Given the description of an element on the screen output the (x, y) to click on. 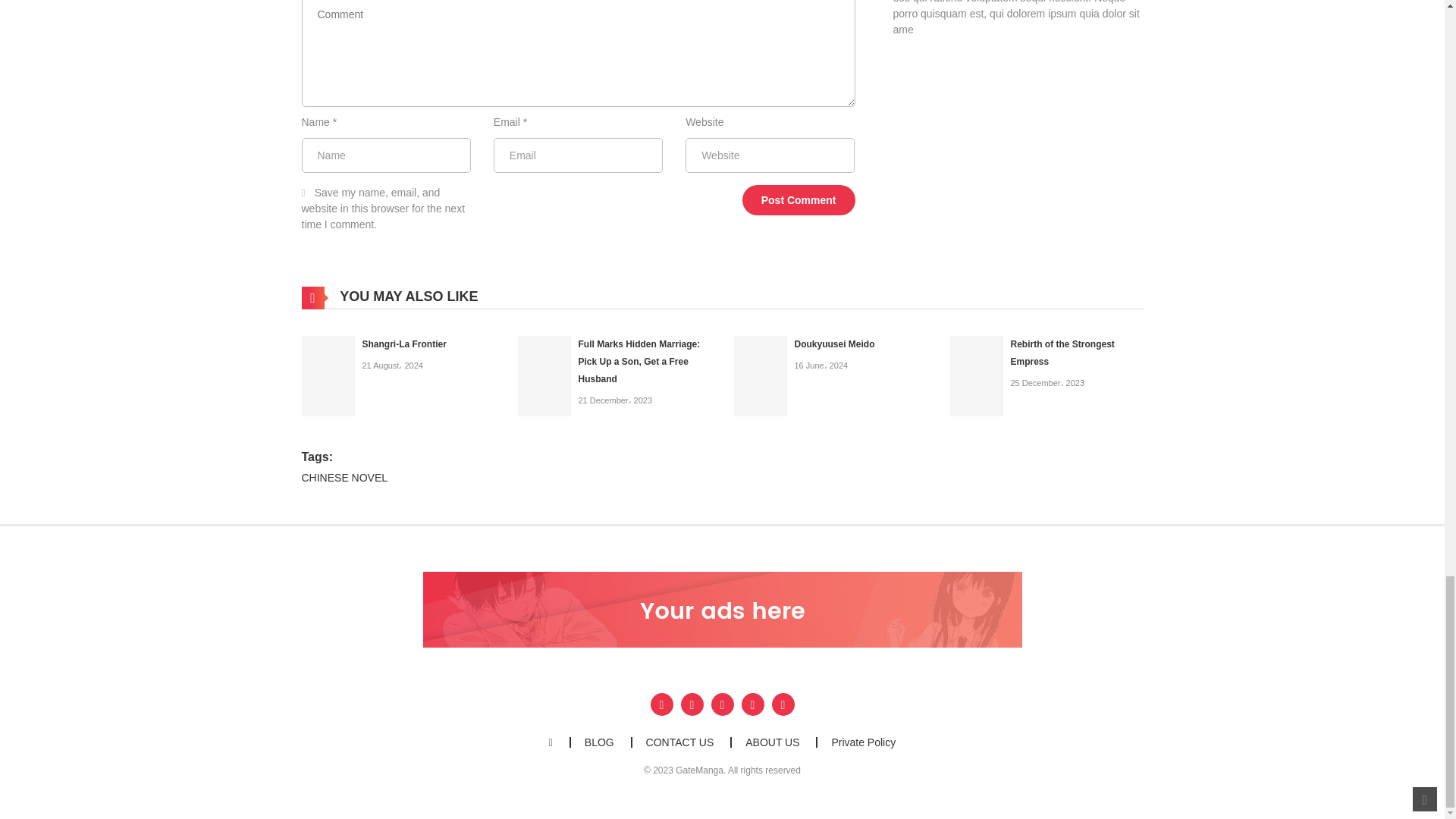
Post Comment (799, 200)
Shangri-La Frontier (328, 375)
Rebirth of the Strongest Empress (976, 375)
Doukyuusei Meido (760, 375)
Shangri-La Frontier (404, 344)
Doukyuusei Meido (834, 344)
